Given the description of an element on the screen output the (x, y) to click on. 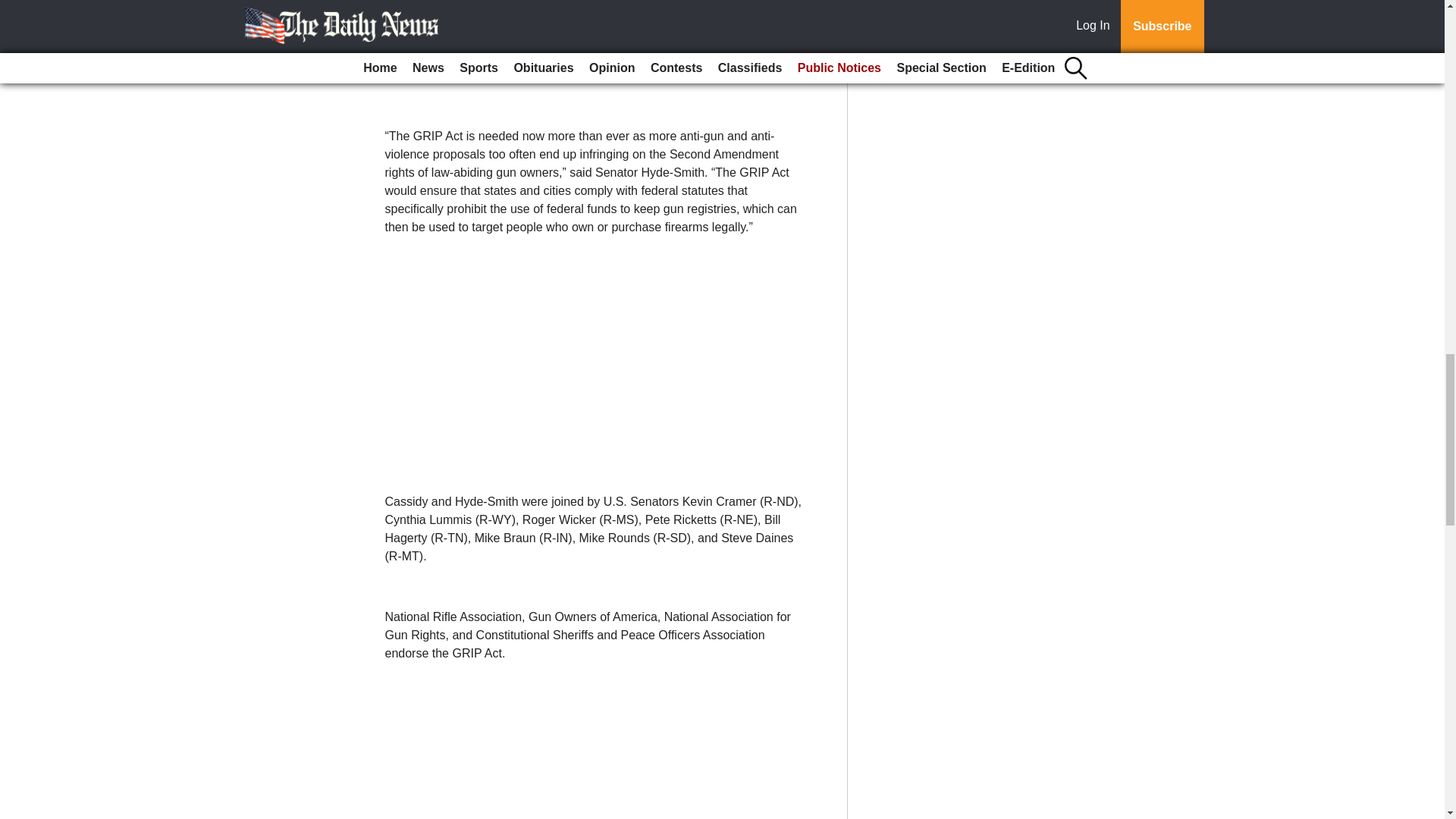
Subscribe (434, 56)
Subscribe (434, 56)
